Given the description of an element on the screen output the (x, y) to click on. 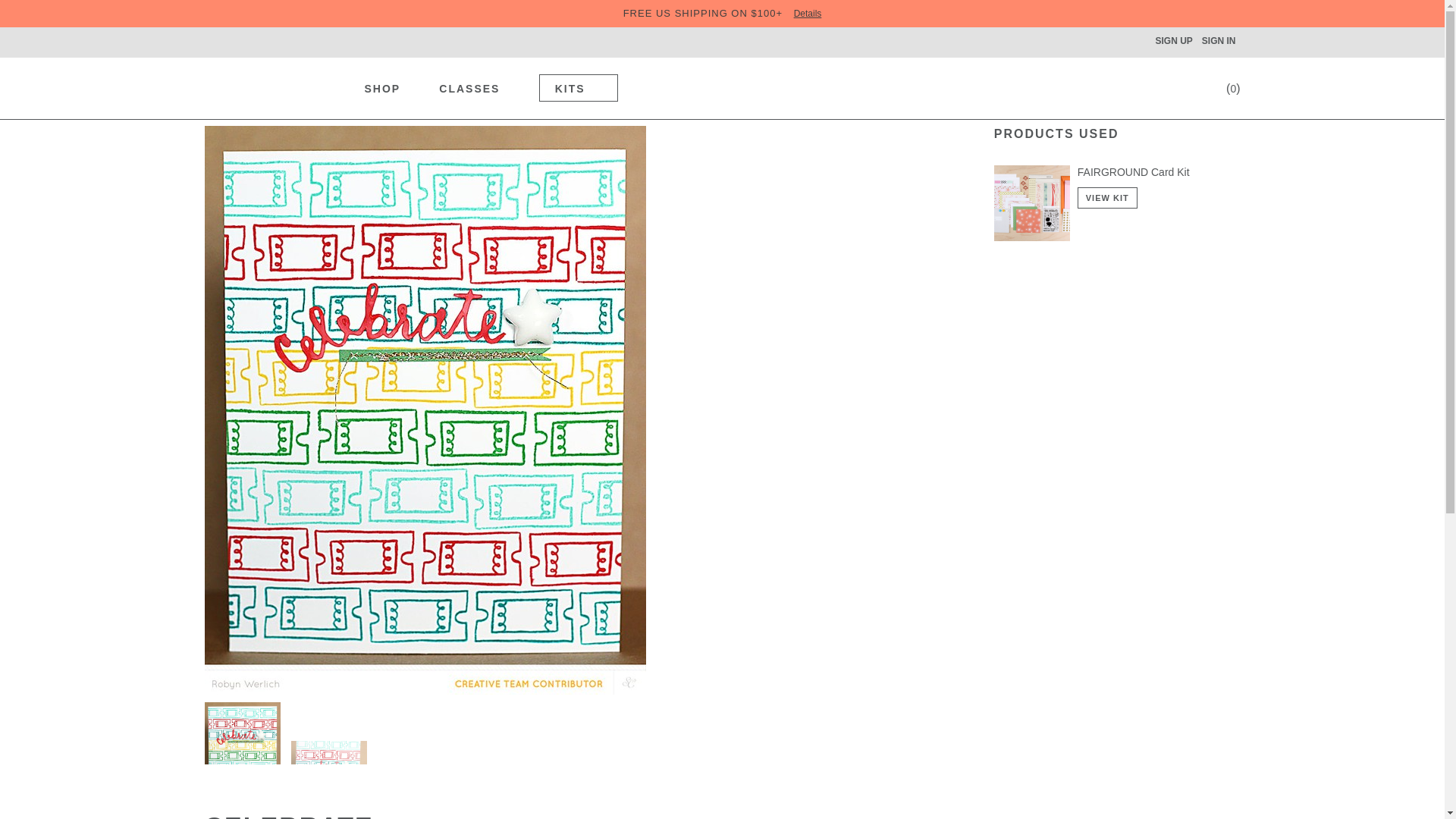
SIGN UP (1173, 40)
SIGN IN (1218, 40)
SHOP (390, 87)
Studio Calico (271, 86)
Details (807, 13)
